Given the description of an element on the screen output the (x, y) to click on. 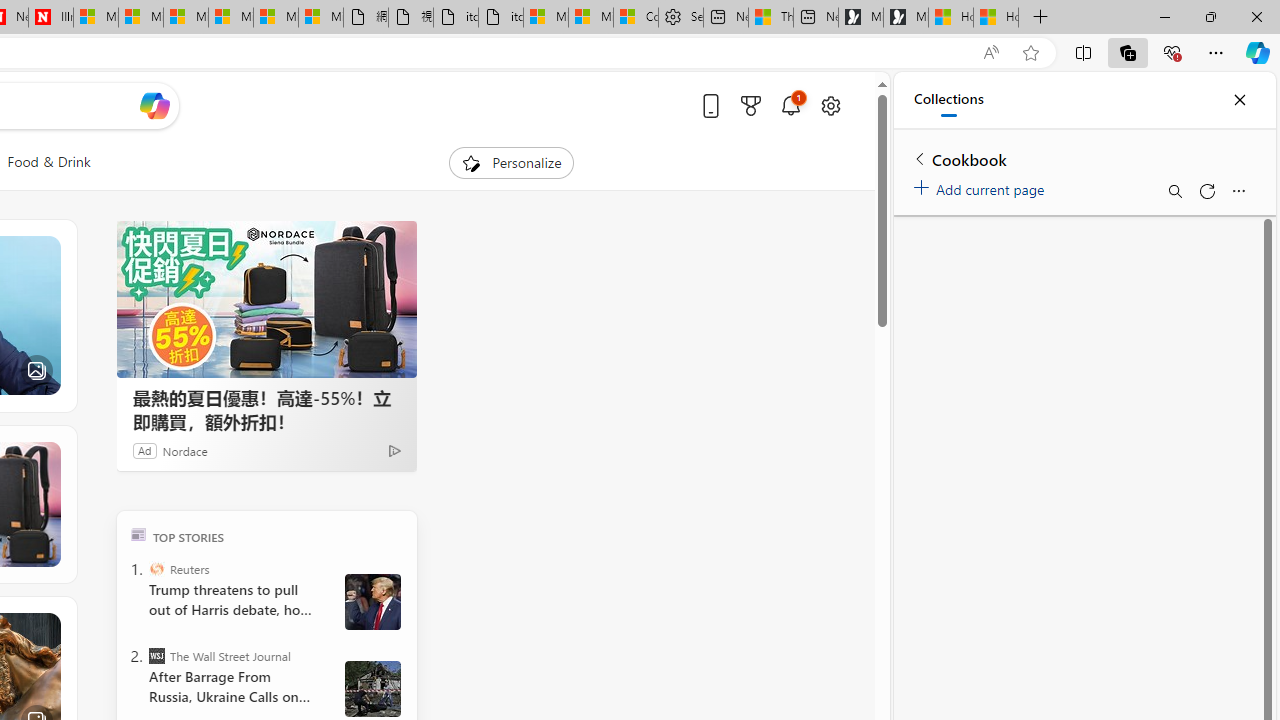
Open Copilot (155, 105)
Illness news & latest pictures from Newsweek.com (50, 17)
Open Copilot (155, 105)
Microsoft account | Privacy (591, 17)
itconcepthk.com/projector_solutions.mp4 (500, 17)
Three Ways To Stop Sweating So Much (770, 17)
Consumer Health Data Privacy Policy (635, 17)
